Given the description of an element on the screen output the (x, y) to click on. 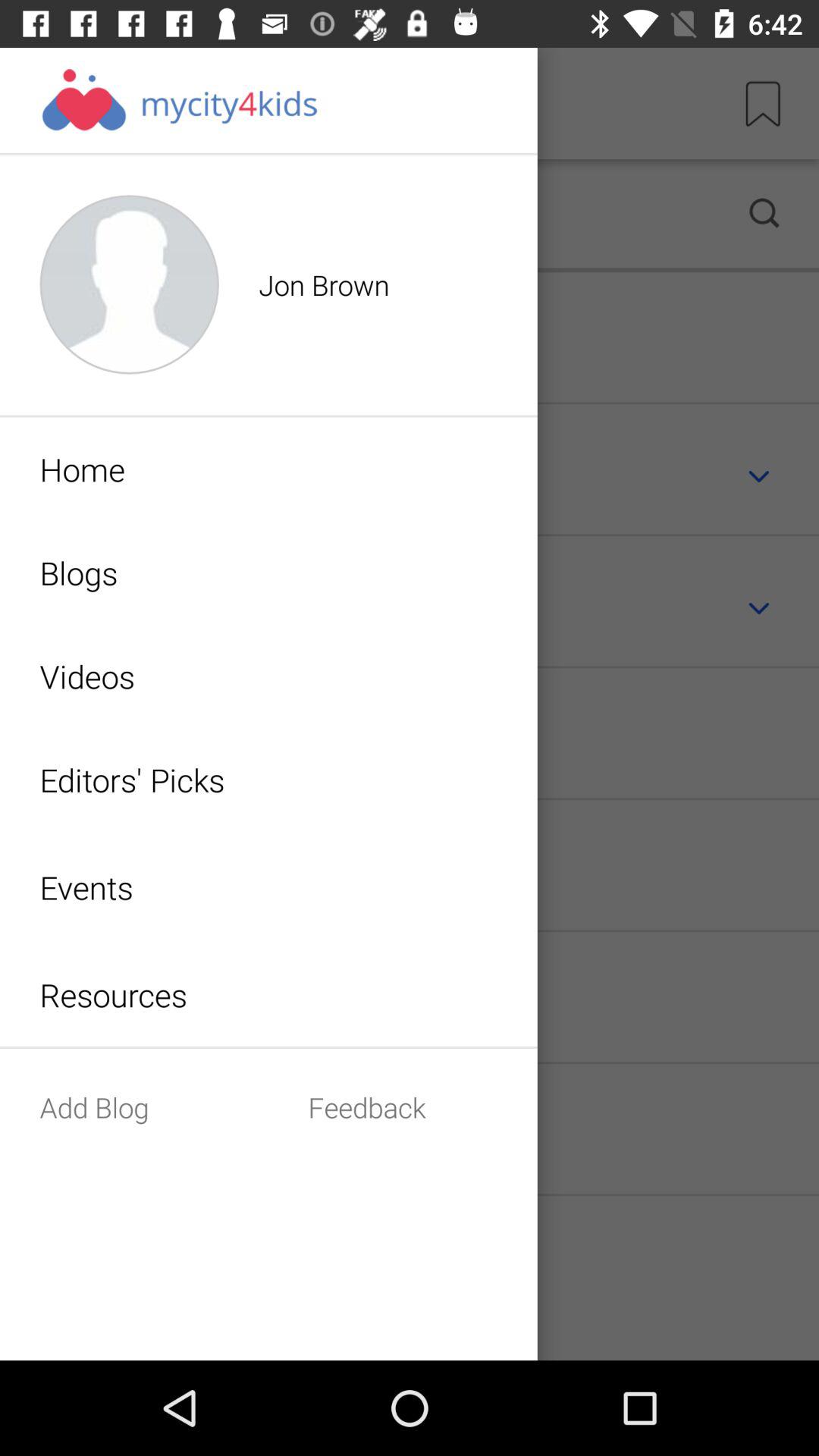
select profile icon (362, 213)
select profile icon (129, 285)
click the text beside the profile icon (378, 285)
